Given the description of an element on the screen output the (x, y) to click on. 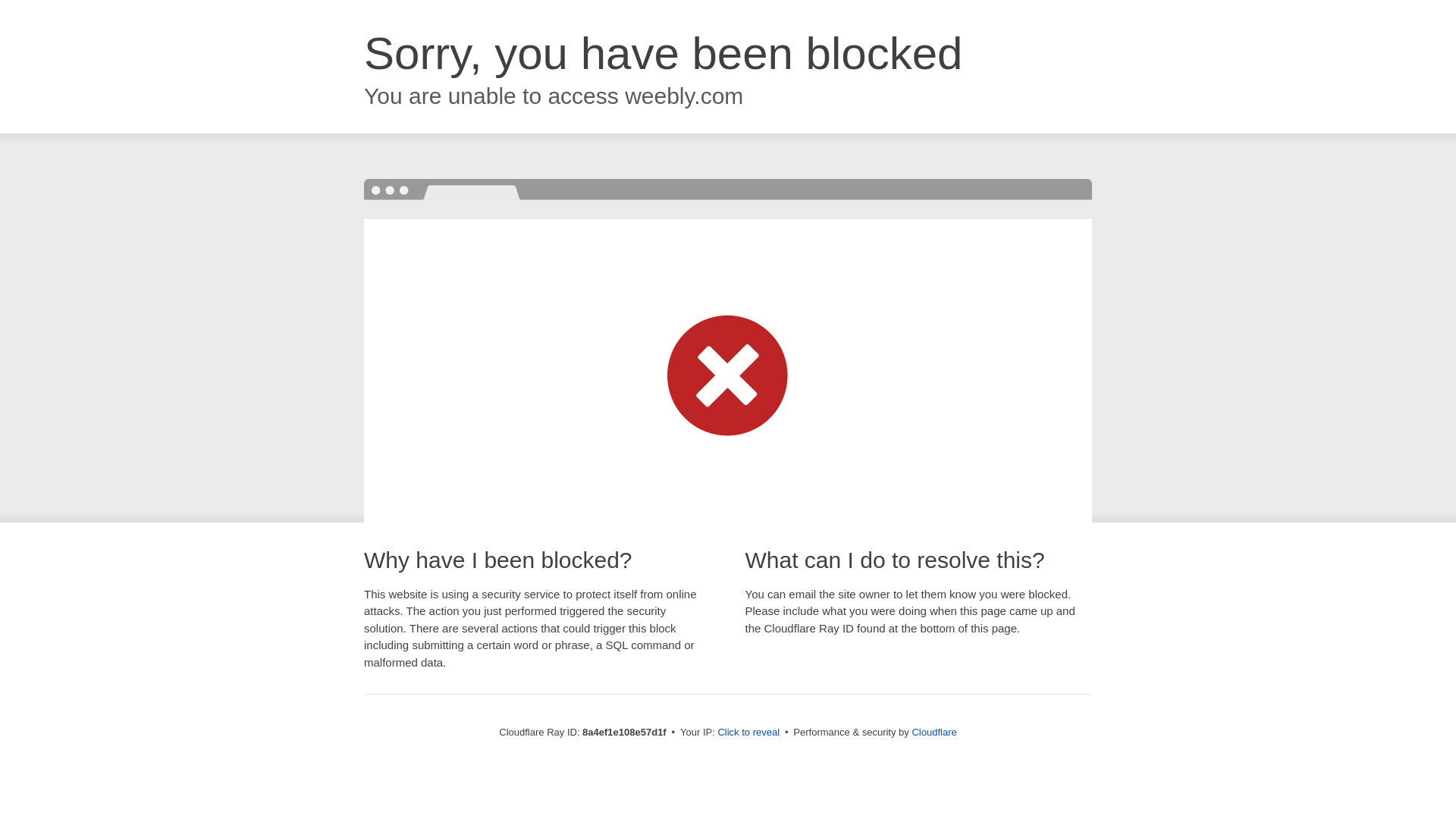
Cloudflare (933, 731)
Click to reveal (747, 732)
